Given the description of an element on the screen output the (x, y) to click on. 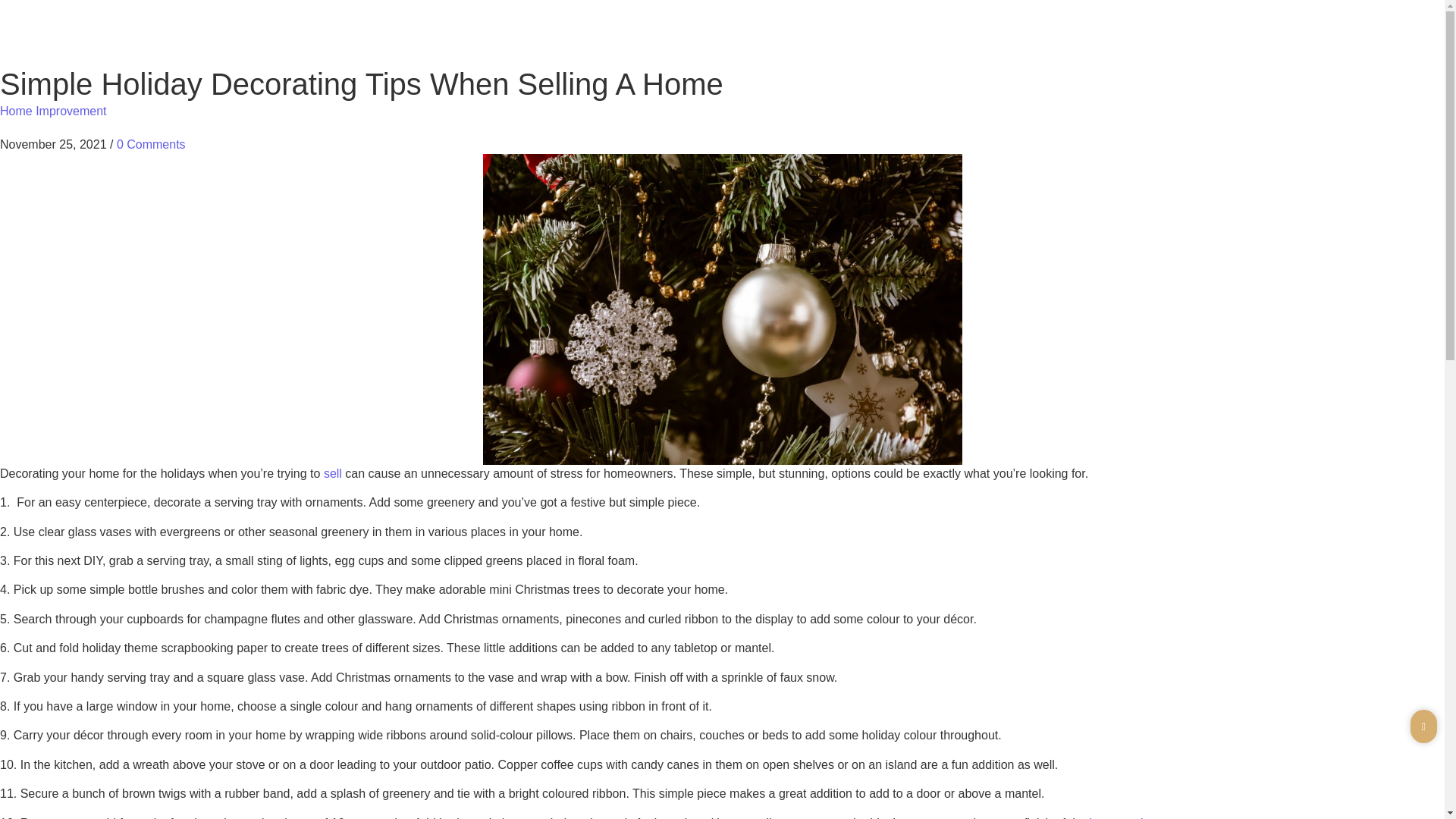
Home Improvement (53, 110)
Moving Services (889, 36)
About us (980, 36)
Estate Services and Sales (751, 36)
Home (642, 36)
homemade tree (1131, 817)
0 Comments (151, 144)
Storage (1221, 36)
Contact us (1057, 36)
Testimonials (1143, 36)
